Given the description of an element on the screen output the (x, y) to click on. 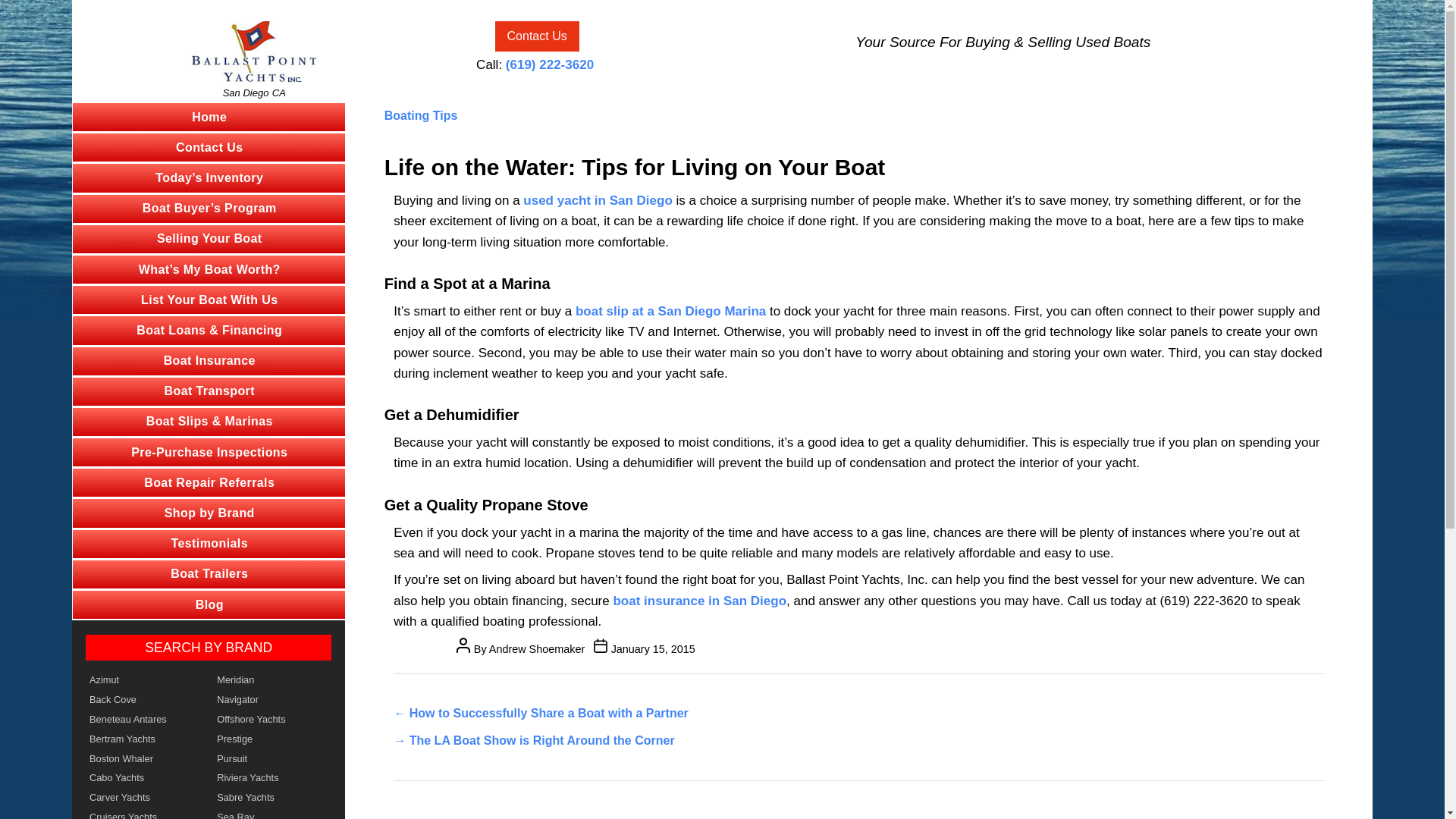
used yacht in San Diego (597, 200)
Carver Yachts (144, 797)
Selling Your Boat (208, 238)
Boating Tips (421, 115)
Shop by Brand (208, 512)
boat insurance in San Diego (699, 600)
Blog (208, 604)
List Your Boat With Us (208, 299)
boat slip at a San Diego Marina (670, 310)
Azimut (144, 680)
